Given the description of an element on the screen output the (x, y) to click on. 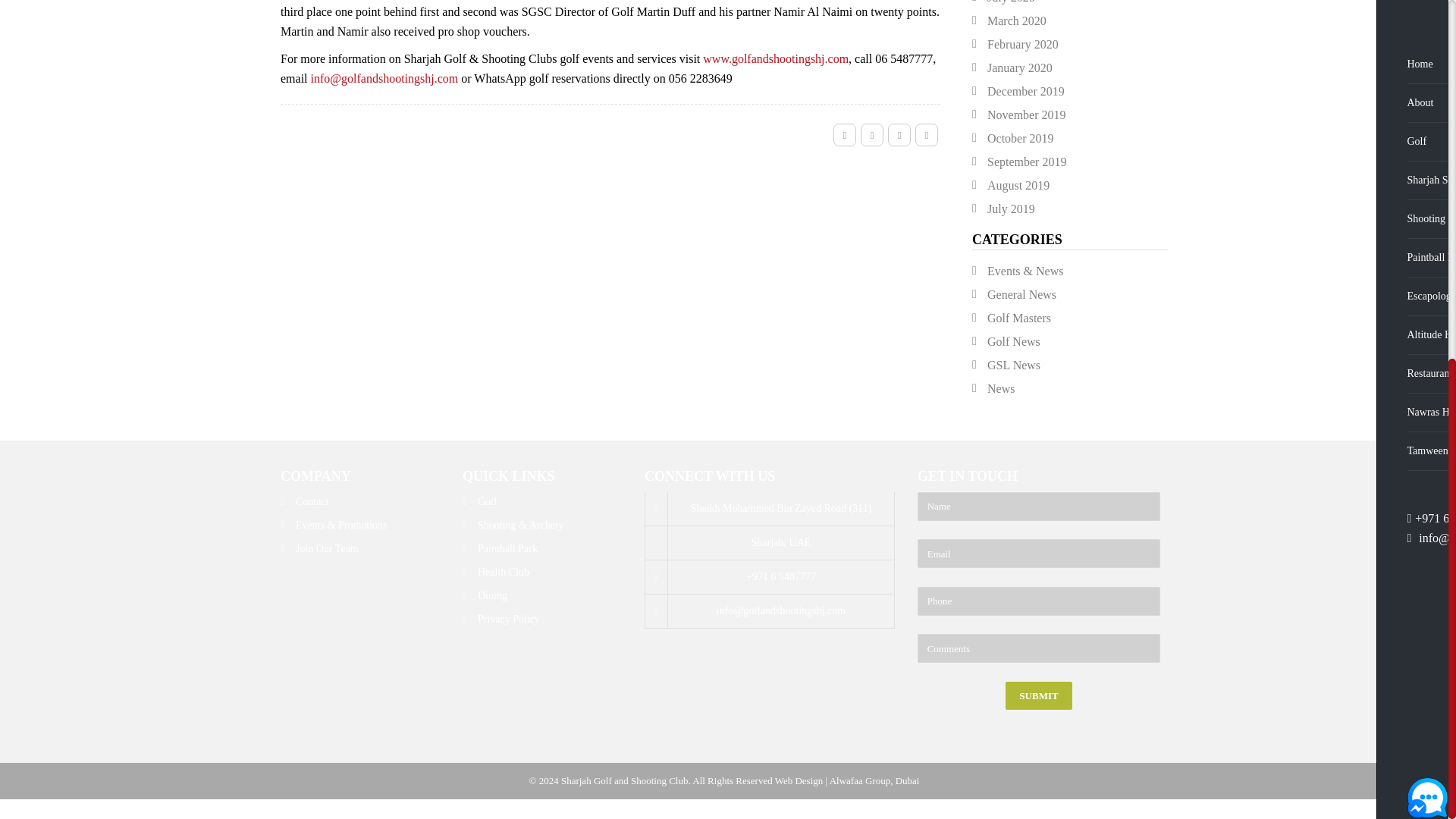
www.golfandshootingshj.com (775, 58)
